Given the description of an element on the screen output the (x, y) to click on. 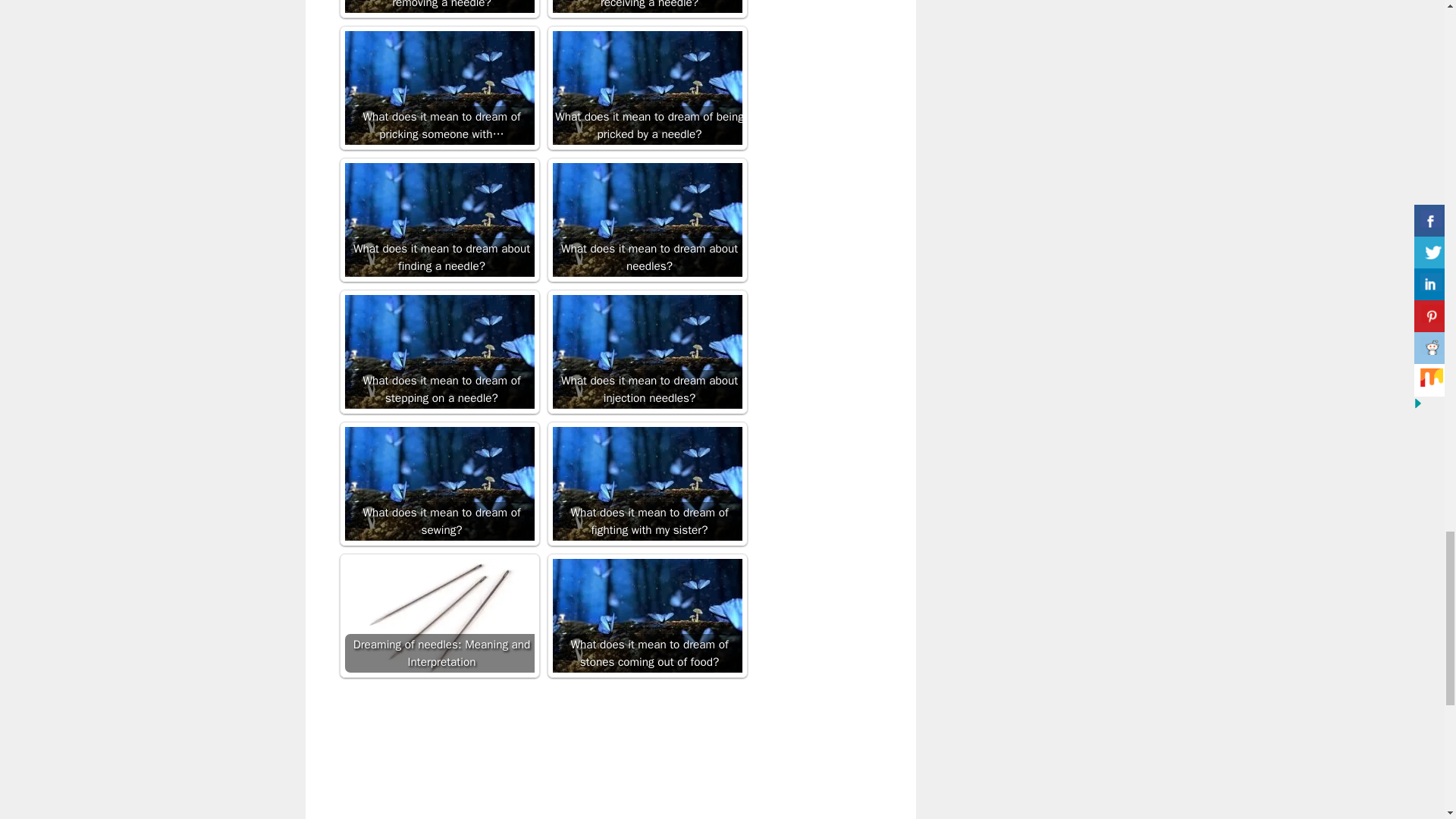
What does it mean to dream of removing a needle? (438, 6)
What does it mean to dream about needles? (646, 219)
What does it mean to dream of receiving a needle? (646, 6)
What does it mean to dream about injection needles? (646, 351)
What does it mean to dream of being pricked by a needle? (646, 87)
What does it mean to dream of sewing? (438, 483)
What does it mean to dream of stepping on a needle? (438, 351)
What does it mean to dream of fighting with my sister? (646, 483)
What does it mean to dream about finding a needle? (438, 219)
